Given the description of an element on the screen output the (x, y) to click on. 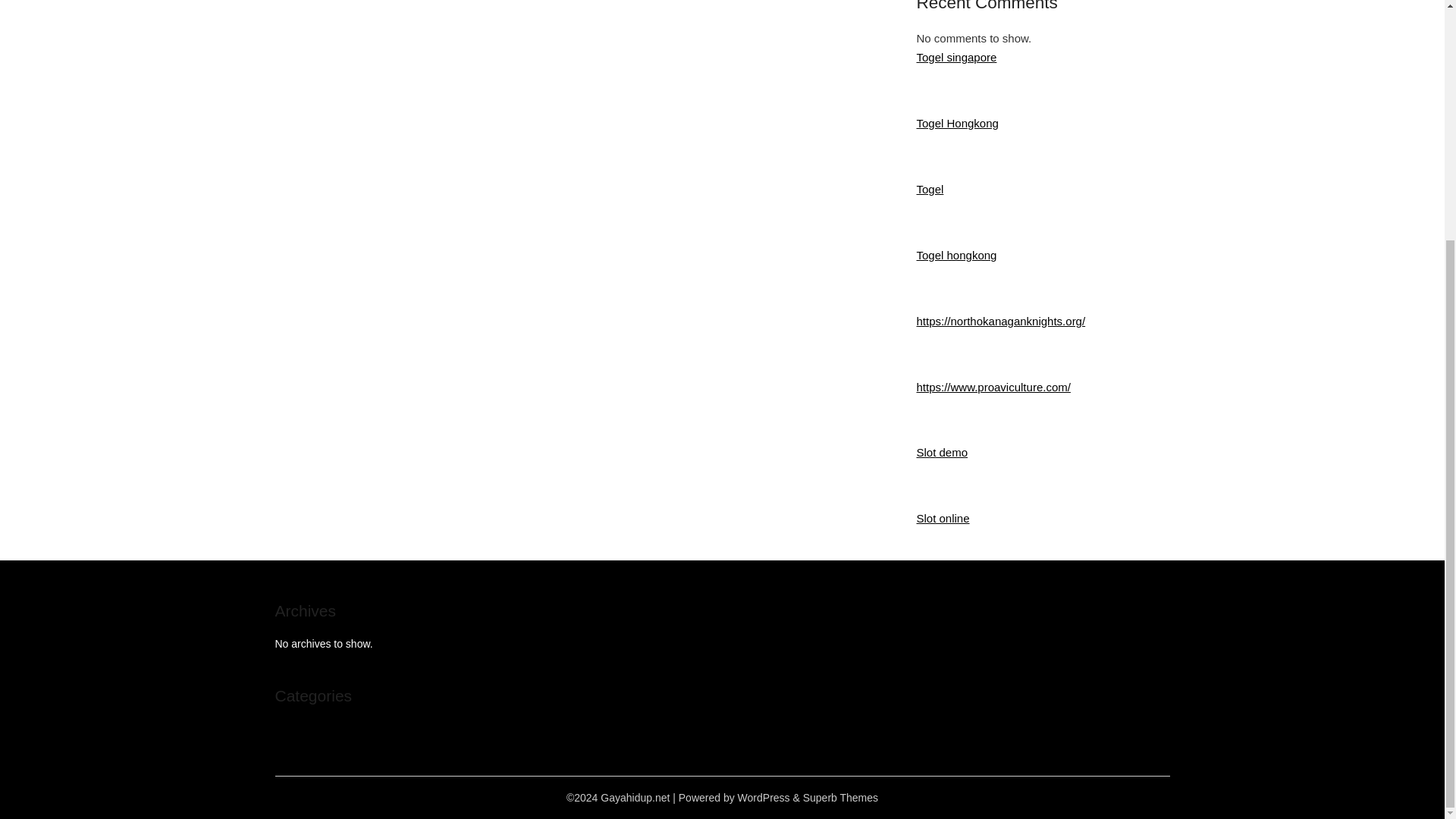
WordPress (764, 797)
Togel singapore (955, 56)
Slot demo (941, 451)
Slot online (942, 517)
Togel Hongkong (956, 123)
Togel hongkong (955, 254)
Togel (929, 188)
Superb Themes (840, 797)
